Given the description of an element on the screen output the (x, y) to click on. 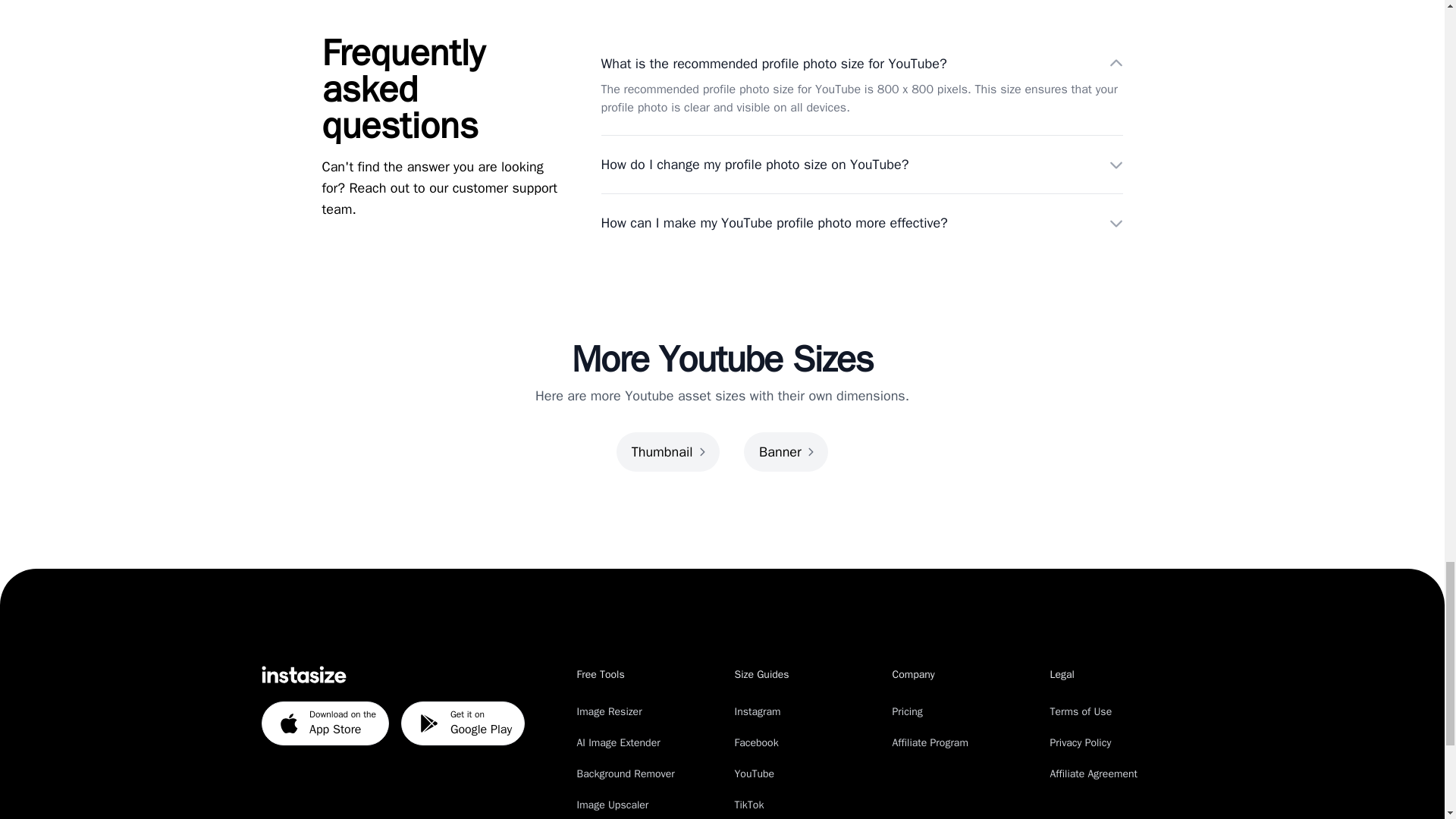
Affiliate Agreement (1093, 773)
Instagram (756, 711)
customer support (504, 187)
AI Image Extender (617, 742)
Banner (786, 451)
What is the recommended profile photo size for YouTube? (860, 63)
Privacy Policy (1079, 742)
Affiliate Program (929, 742)
Background Remover (462, 723)
How can I make my YouTube profile photo more effective? (625, 773)
Terms of Use (860, 222)
YouTube (1080, 711)
How do I change my profile photo size on YouTube? (753, 773)
TikTok (860, 164)
